Given the description of an element on the screen output the (x, y) to click on. 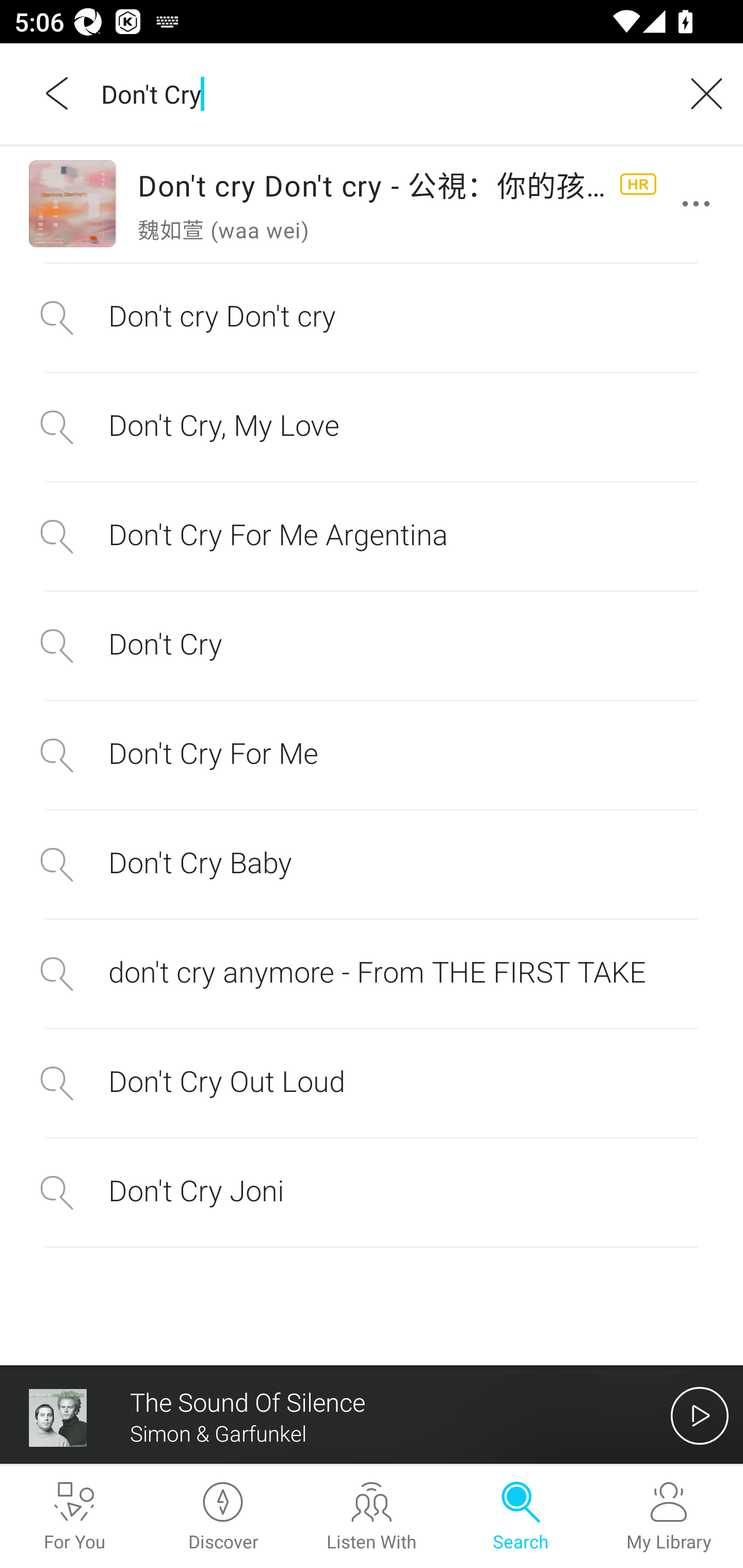
Don't Cry (378, 92)
Clear query (699, 92)
Back,outside of the list (57, 93)
更多操作選項 (699, 203)
Don't cry Don't cry (371, 317)
Don't Cry, My Love (371, 427)
Don't Cry For Me Argentina (371, 536)
Don't Cry (371, 645)
Don't Cry For Me (371, 754)
Don't Cry Baby (371, 864)
don't cry anymore - From THE FIRST TAKE (371, 974)
Don't Cry Out Loud (371, 1082)
Don't Cry Joni (371, 1192)
開始播放 (699, 1415)
For You (74, 1517)
Discover (222, 1517)
Listen With (371, 1517)
Search (519, 1517)
My Library (668, 1517)
